Given the description of an element on the screen output the (x, y) to click on. 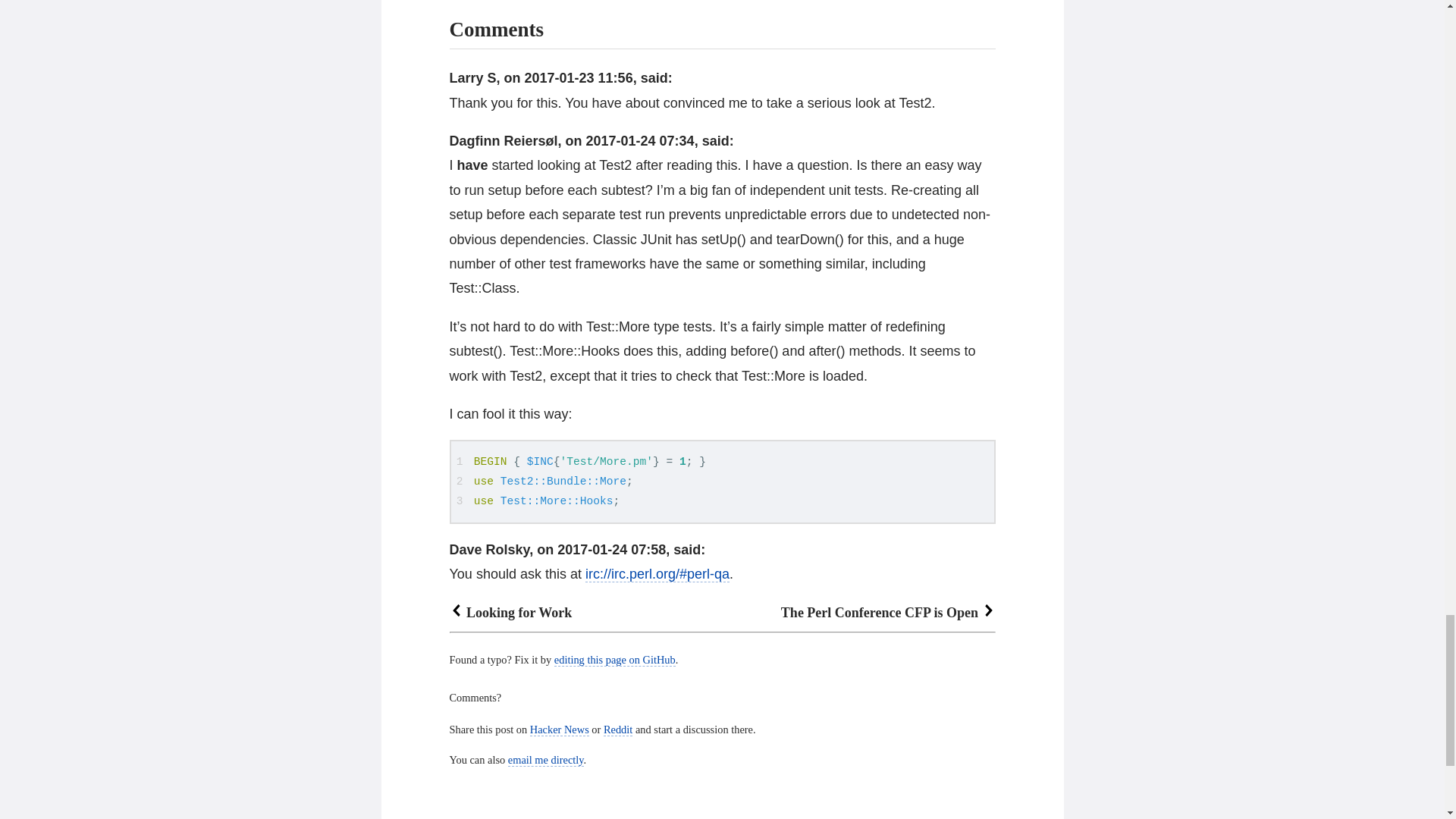
editing this page on GitHub (614, 659)
email me directly (545, 759)
The Perl Conference CFP is Open (887, 612)
Hacker News (559, 729)
Looking for Work (510, 612)
Reddit (617, 729)
